Given the description of an element on the screen output the (x, y) to click on. 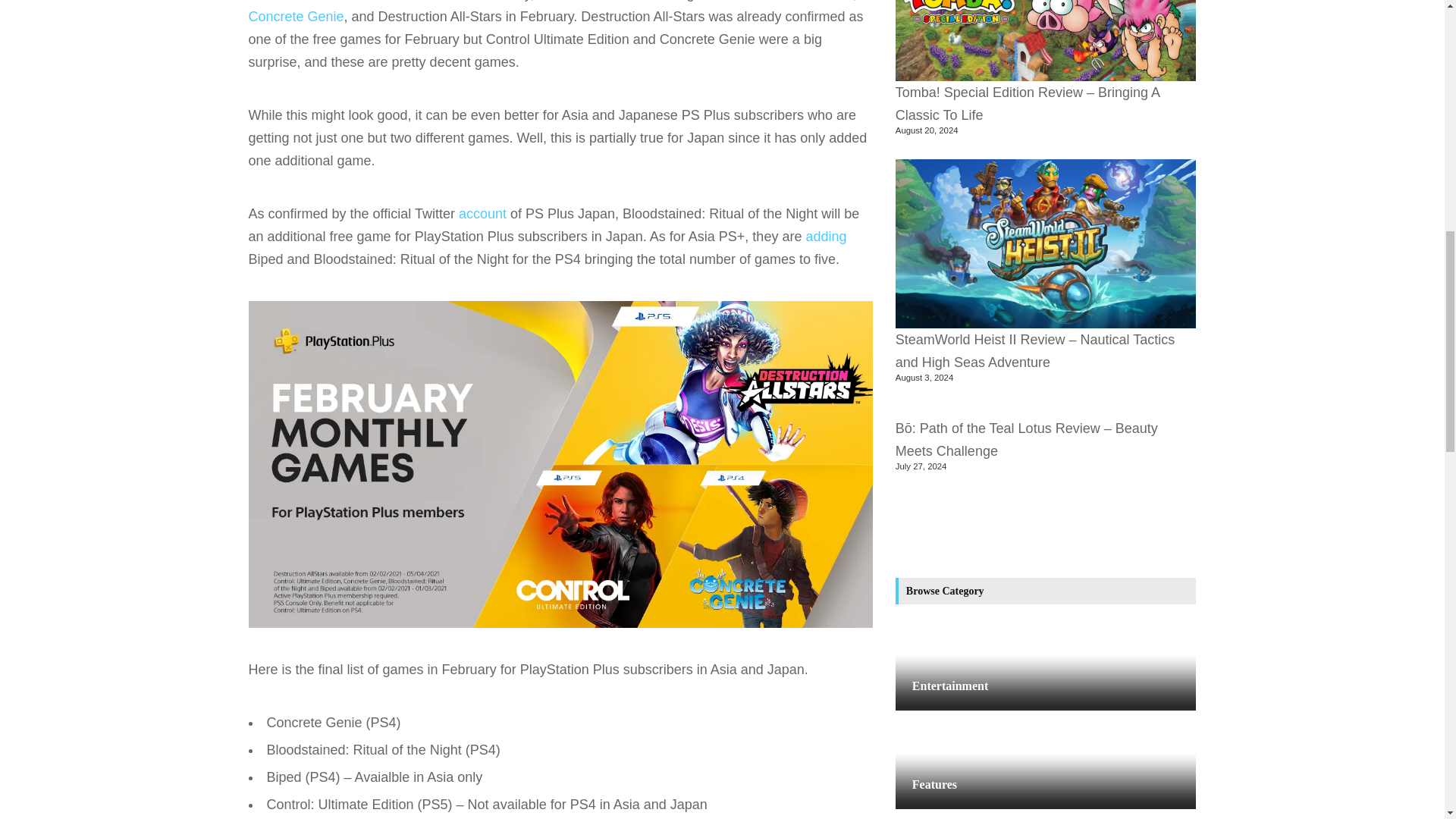
adding (825, 236)
Concrete Genie (295, 16)
PS Plus subscribers (598, 0)
Control Ultimate Edition (780, 0)
account (482, 213)
